Given the description of an element on the screen output the (x, y) to click on. 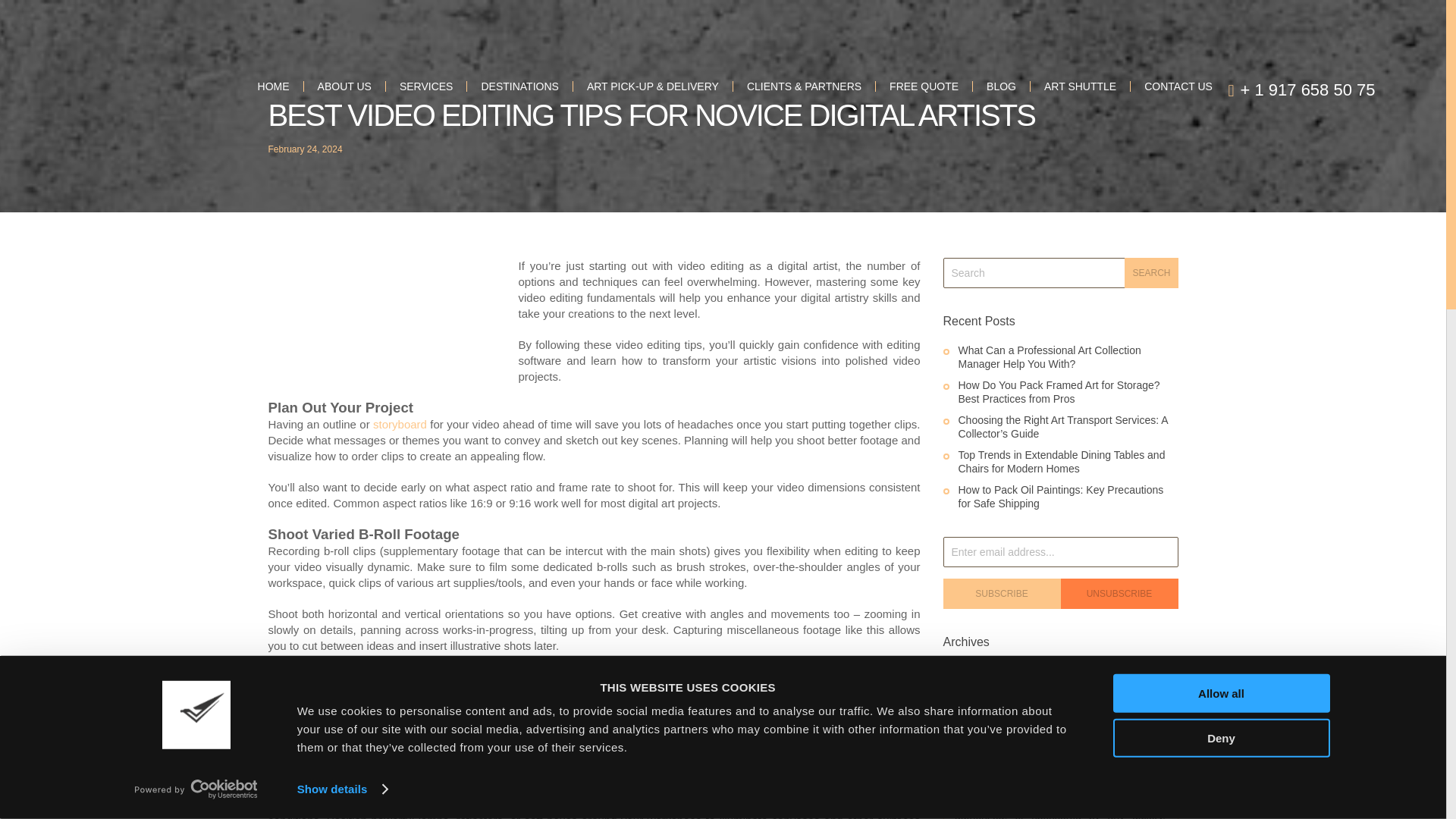
Enter email address... (1060, 552)
Unsubscribe (1118, 593)
Subscribe (1002, 593)
Allow all (1221, 693)
Search (1150, 272)
Deny (1221, 737)
Show details (342, 789)
